Given the description of an element on the screen output the (x, y) to click on. 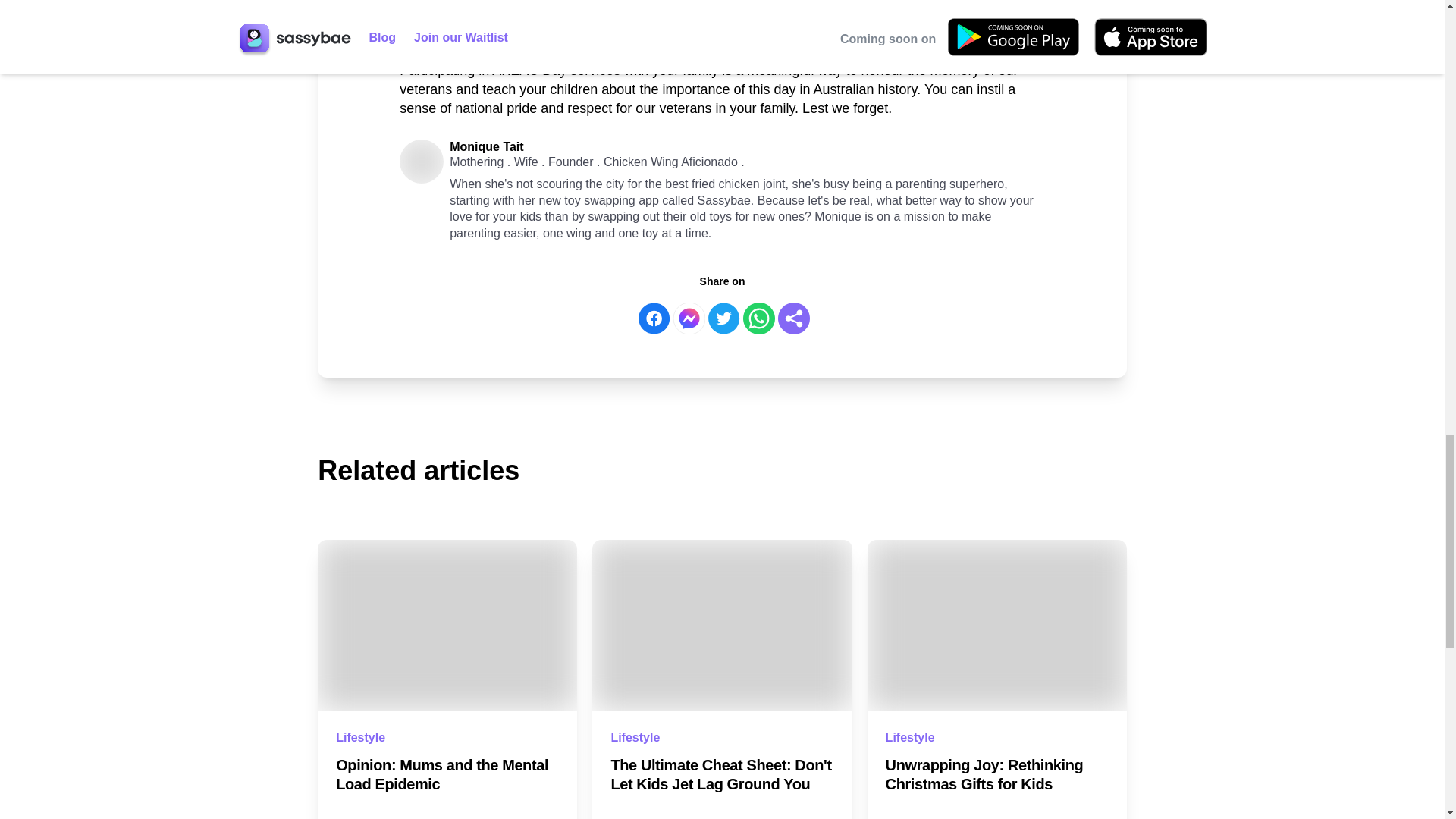
The Ultimate Cheat Sheet: Don't Let Kids Jet Lag Ground You (721, 774)
Opinion: Mums and the Mental Load Epidemic (447, 774)
Unwrapping Joy: Rethinking Christmas Gifts for Kids (996, 774)
